Given the description of an element on the screen output the (x, y) to click on. 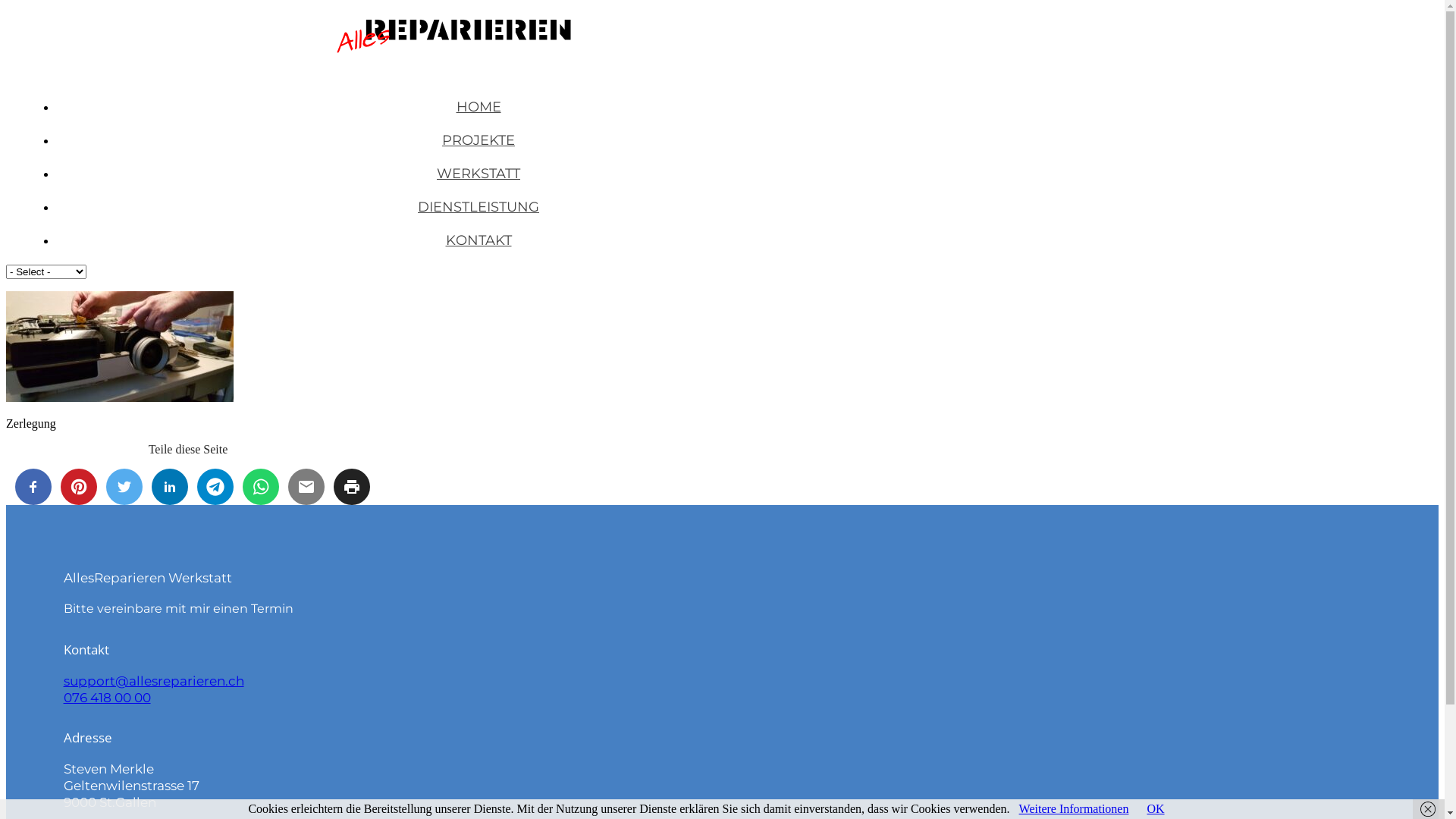
PROJEKTE Element type: text (478, 140)
HOME Element type: text (478, 106)
support@allesreparieren.ch Element type: text (153, 680)
OK Element type: text (1155, 808)
Weitere Informationen Element type: text (1074, 808)
DIENSTLEISTUNG Element type: text (478, 206)
WERKSTATT Element type: text (478, 173)
076 418 00 00 Element type: text (106, 697)
KONTAKT Element type: text (478, 240)
